Given the description of an element on the screen output the (x, y) to click on. 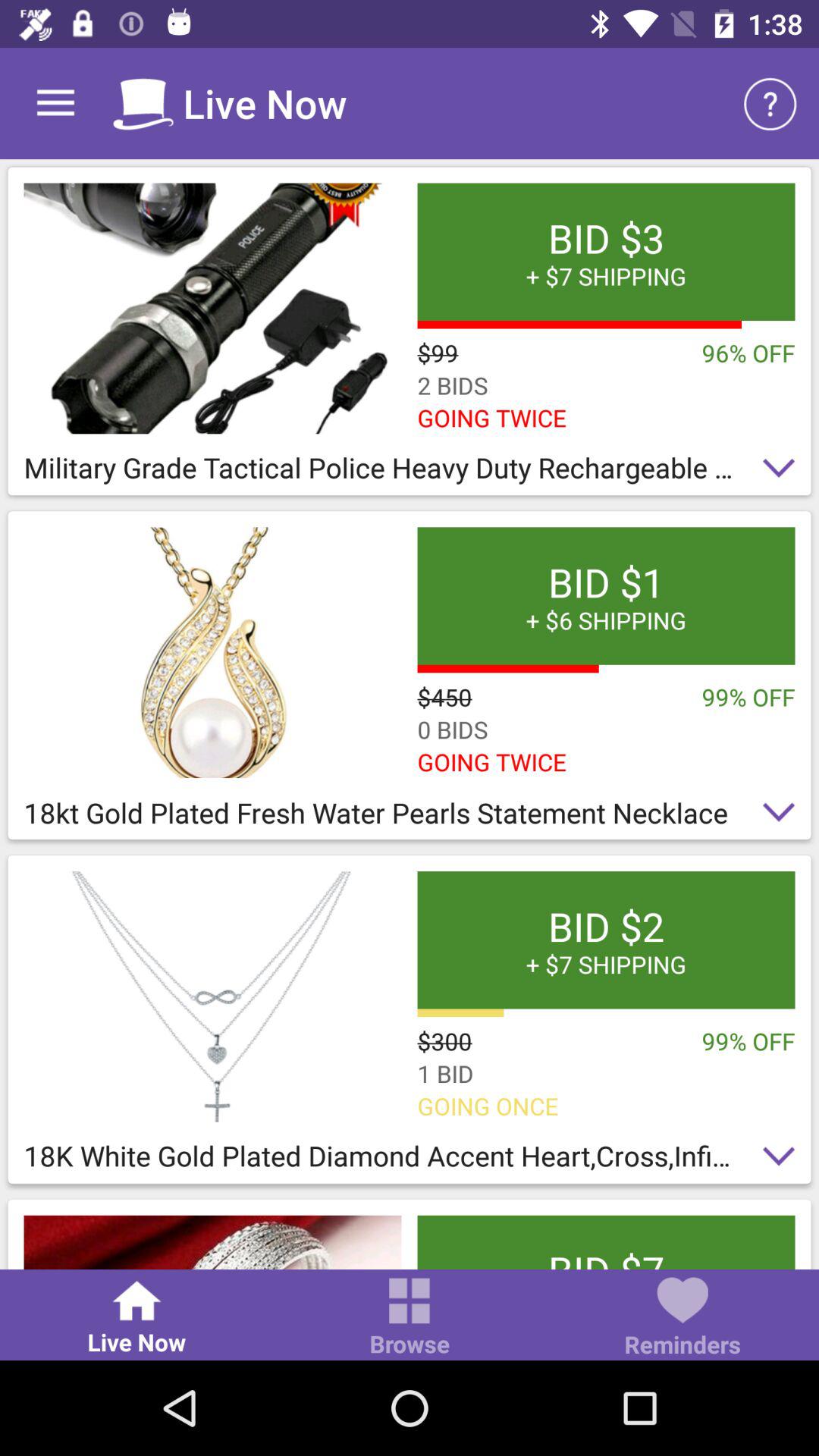
jump to the reminders item (682, 1318)
